Given the description of an element on the screen output the (x, y) to click on. 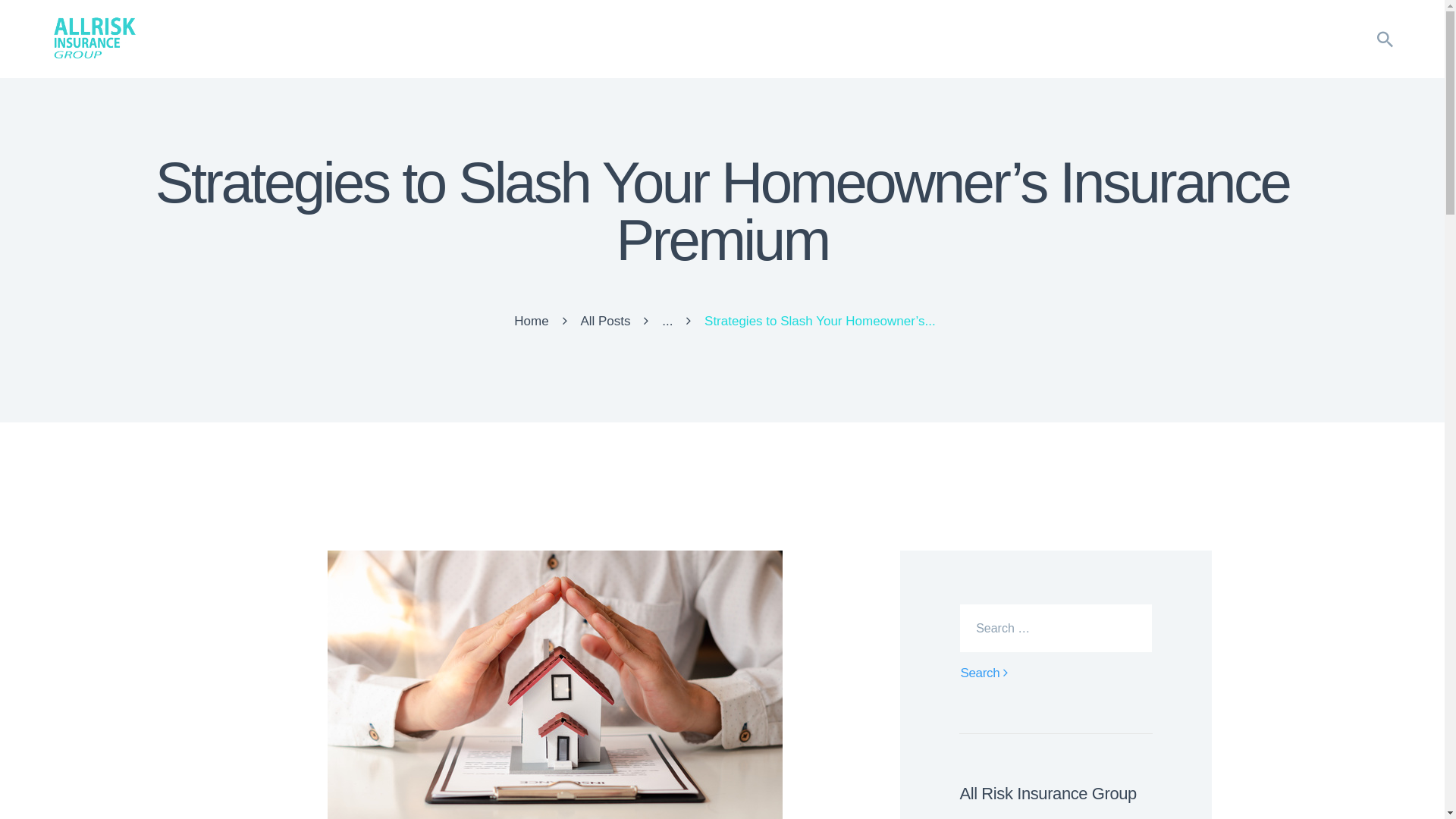
Search (978, 673)
Search (978, 673)
